Given the description of an element on the screen output the (x, y) to click on. 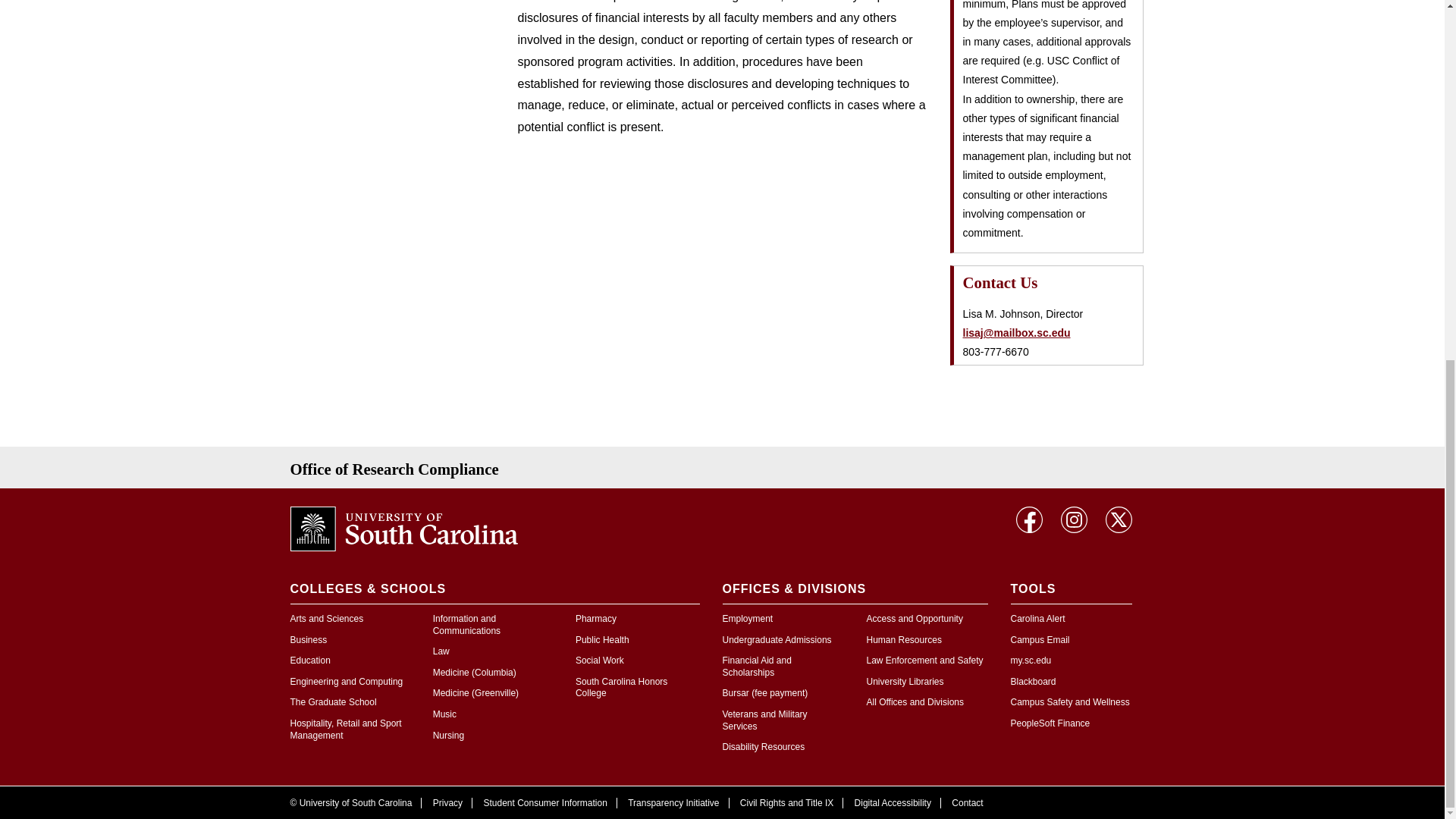
University of South Carolina (402, 527)
